Given the description of an element on the screen output the (x, y) to click on. 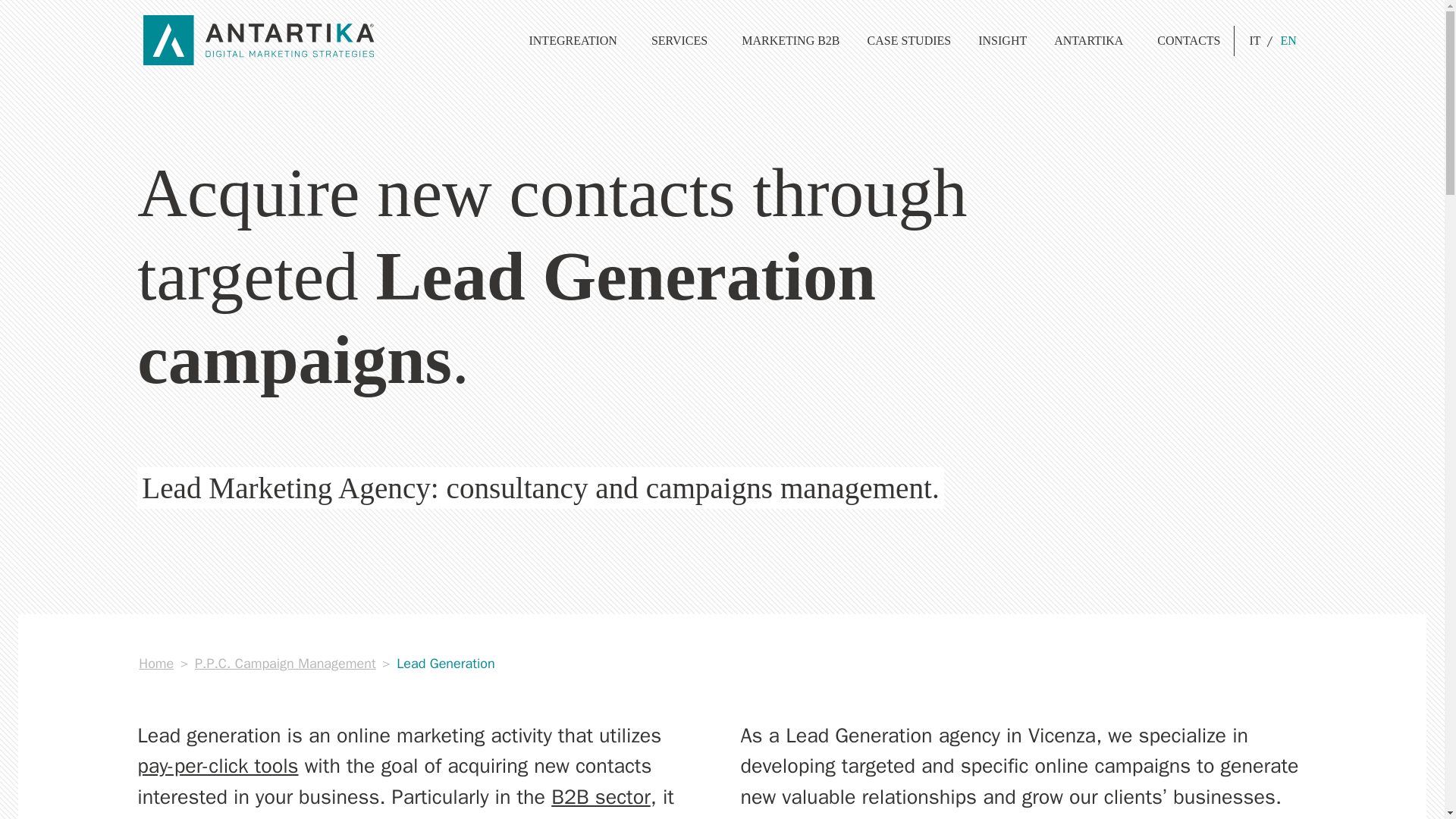
SERVICES (682, 40)
INTEGREATION (575, 40)
